Given the description of an element on the screen output the (x, y) to click on. 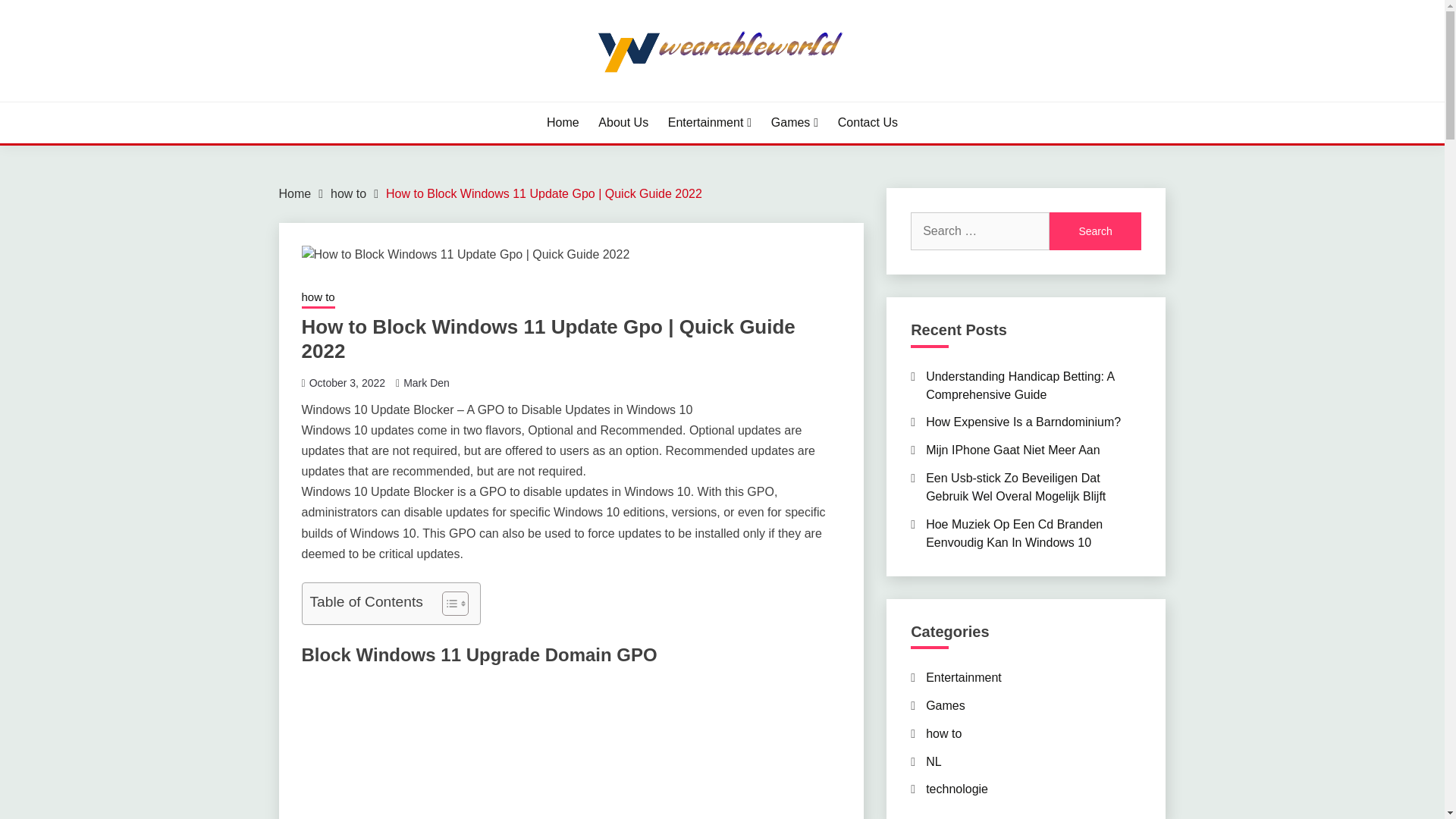
how to (348, 193)
About Us (622, 122)
WEARABLE WORLD (416, 99)
Search (1095, 231)
Entertainment (709, 122)
Games (794, 122)
Home (563, 122)
Contact Us (868, 122)
Search (1095, 231)
October 3, 2022 (346, 381)
